Given the description of an element on the screen output the (x, y) to click on. 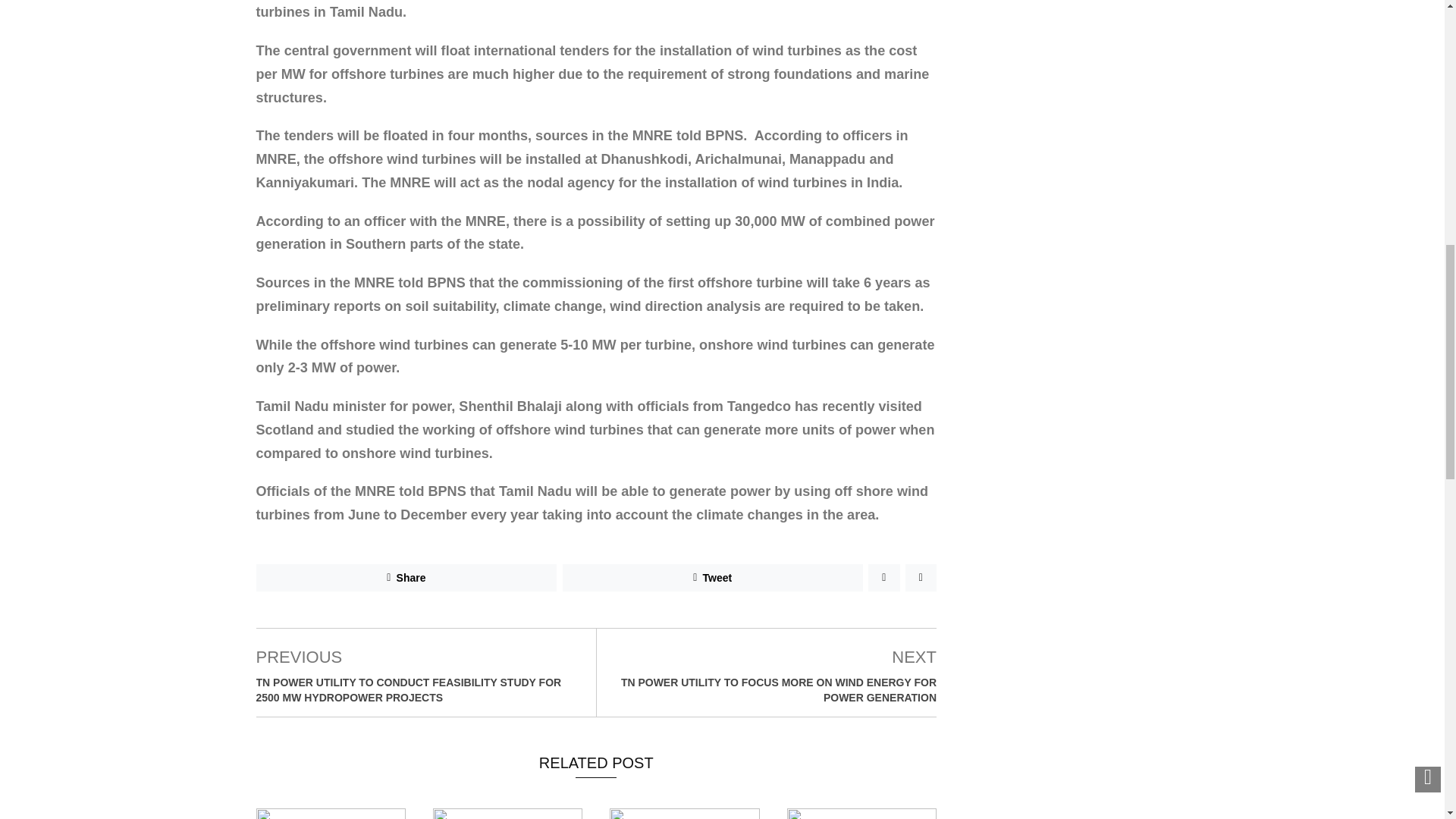
Tweet (712, 577)
Share (406, 577)
